Given the description of an element on the screen output the (x, y) to click on. 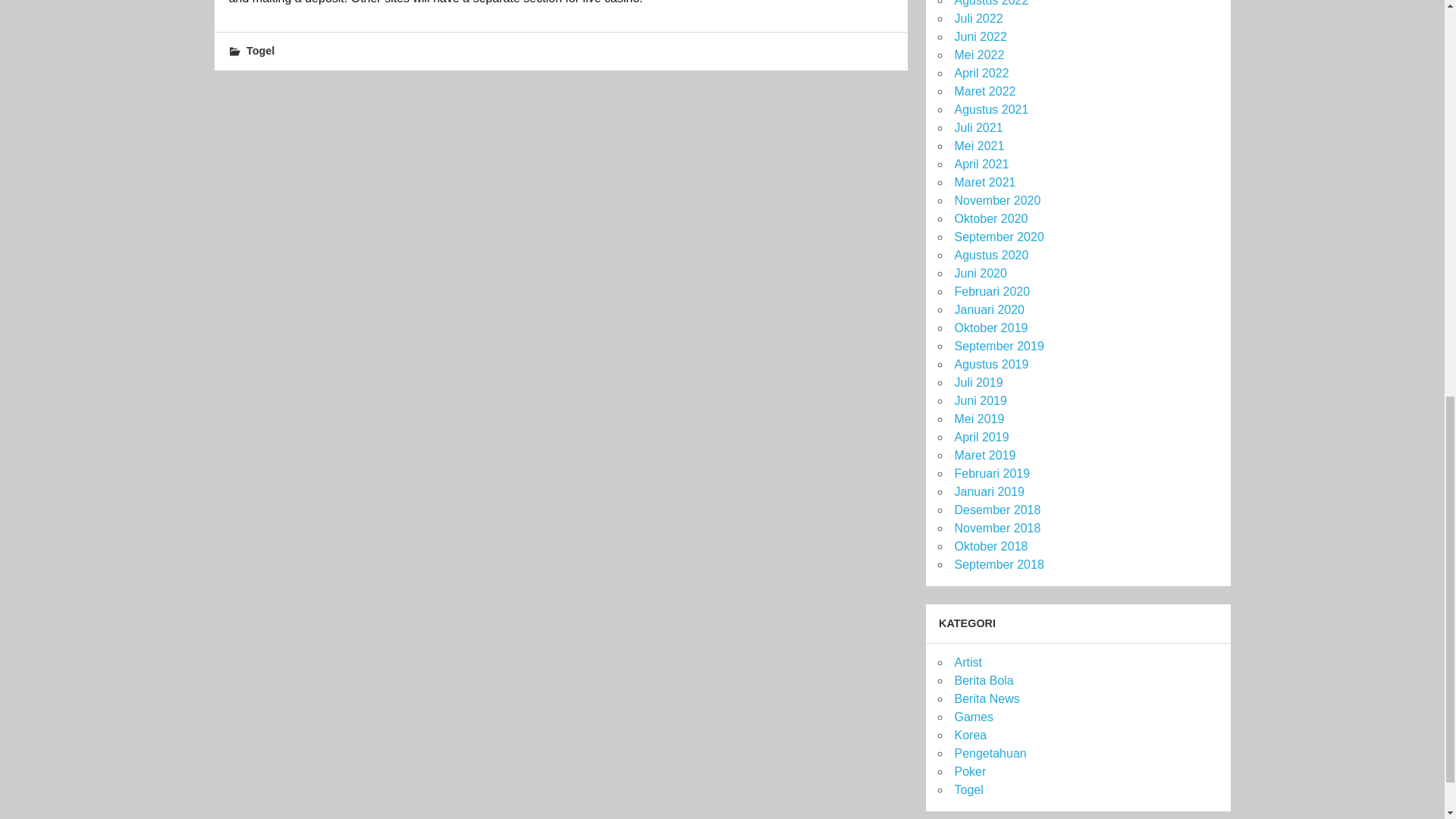
Togel (260, 50)
Juli 2022 (978, 18)
Agustus 2022 (990, 3)
